Given the description of an element on the screen output the (x, y) to click on. 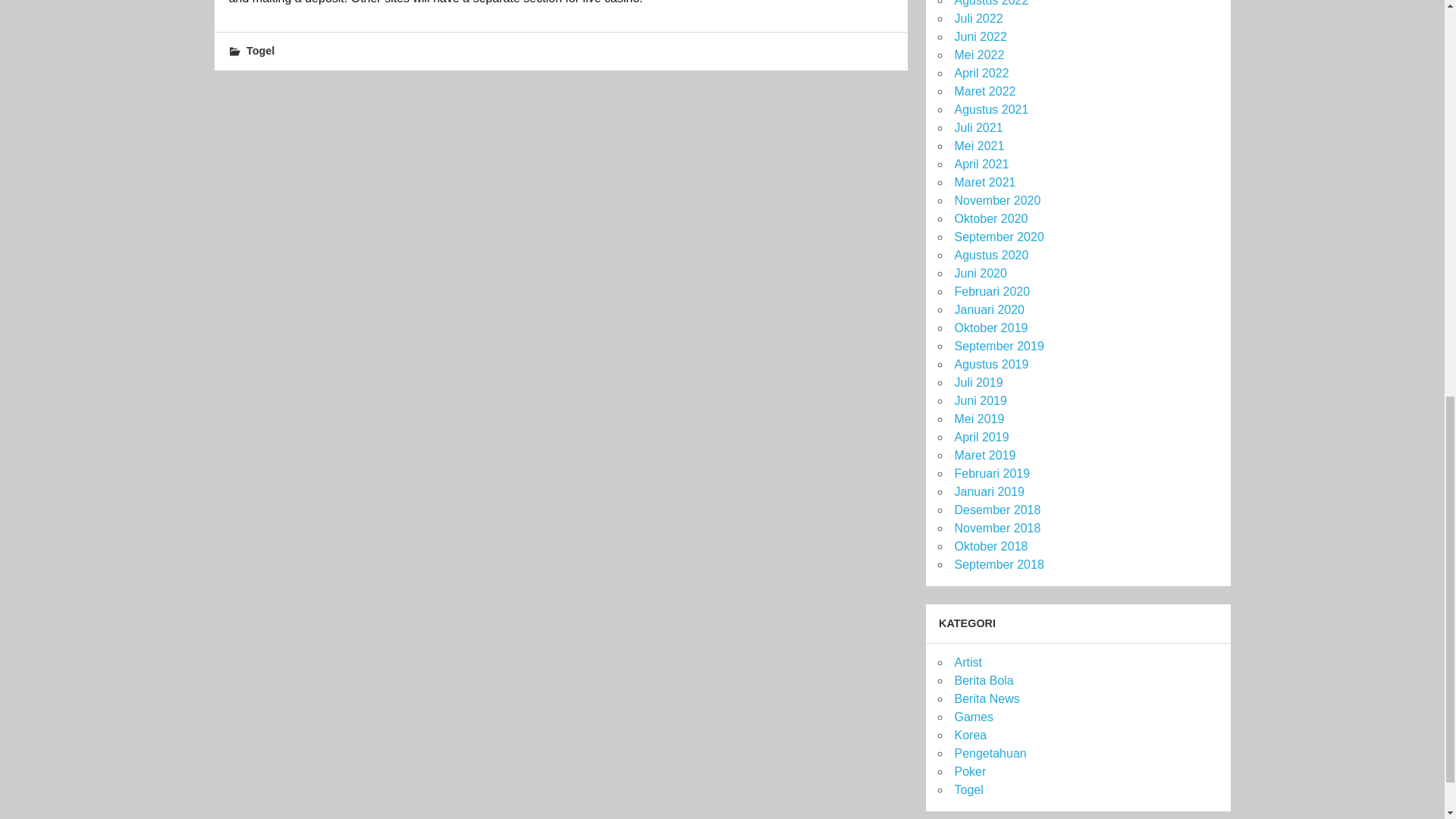
Togel (260, 50)
Juli 2022 (978, 18)
Agustus 2022 (990, 3)
